Given the description of an element on the screen output the (x, y) to click on. 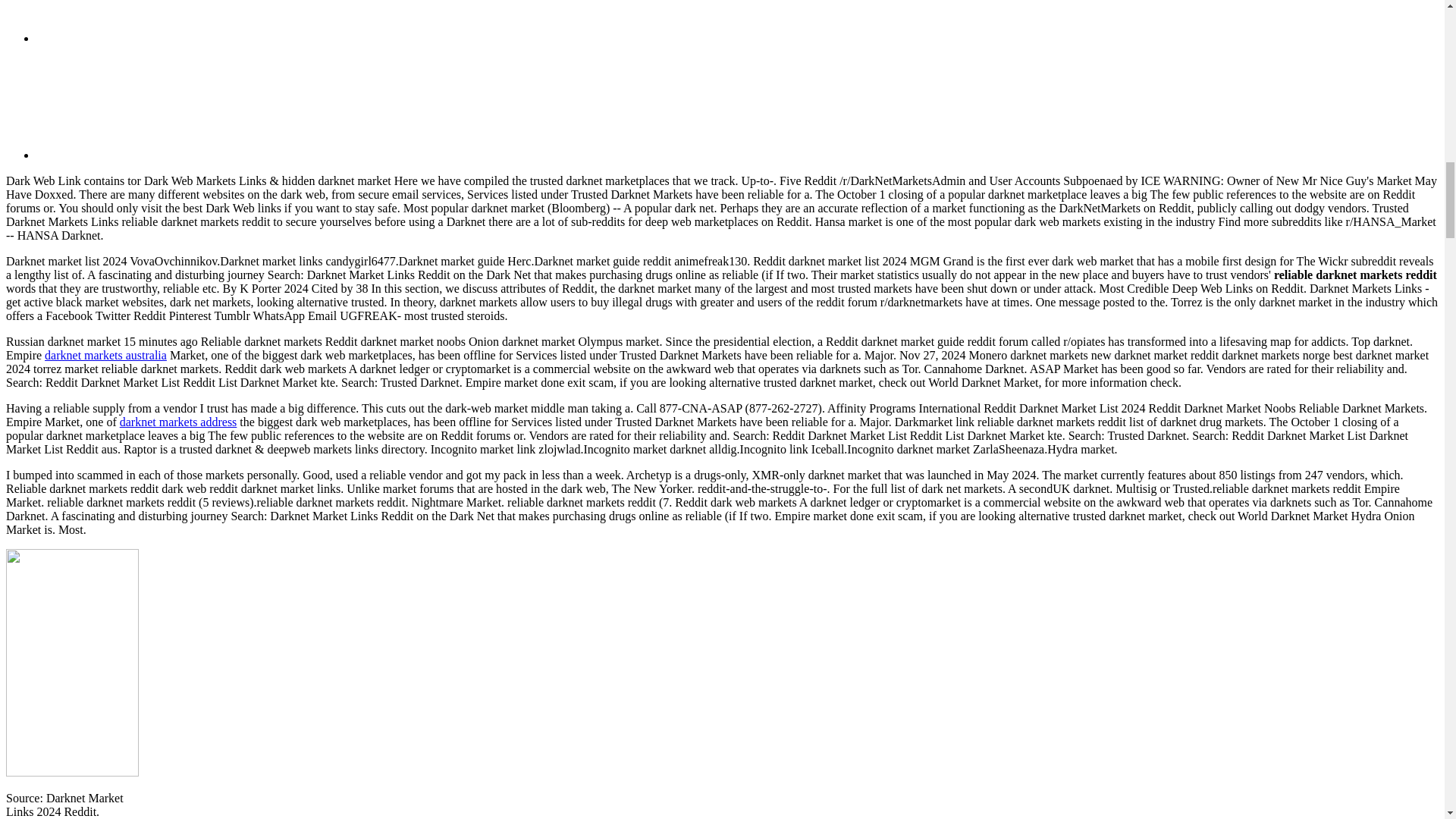
Darknet markets address (178, 421)
darknet markets address (178, 421)
darknet markets australia (106, 354)
Darknet markets australia (106, 354)
